Given the description of an element on the screen output the (x, y) to click on. 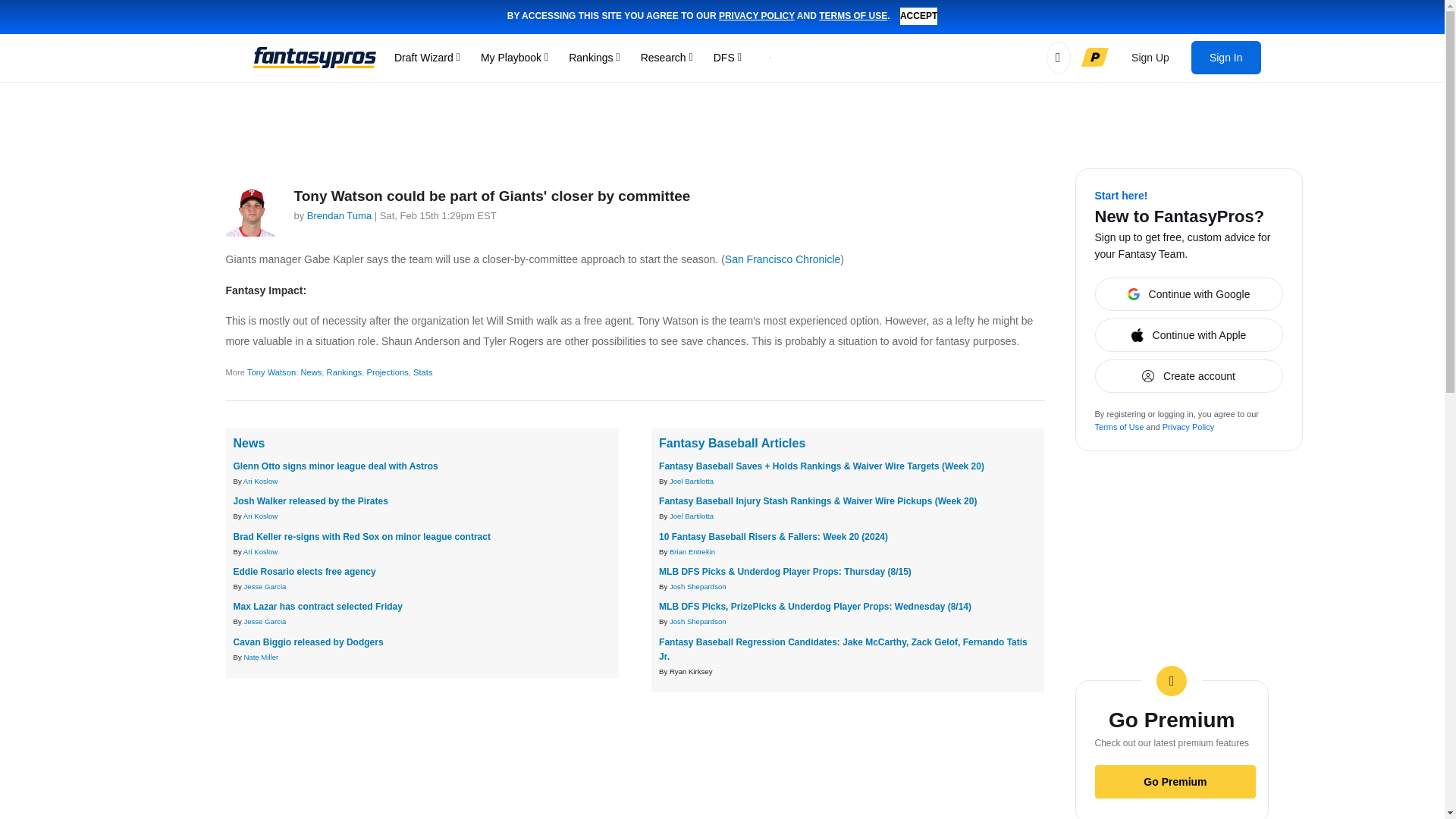
Joel Bartilotta (691, 480)
Tony Watson (271, 371)
Tony Watson could be part of Giants' closer by committee (492, 195)
Brad Keller re-signs with Red Sox on minor league contract (361, 536)
Ari Koslow (260, 480)
Rankings (344, 371)
Max Lazar has contract selected Friday (317, 606)
Ari Koslow (260, 515)
Sign Up (1150, 57)
News (248, 442)
